Given the description of an element on the screen output the (x, y) to click on. 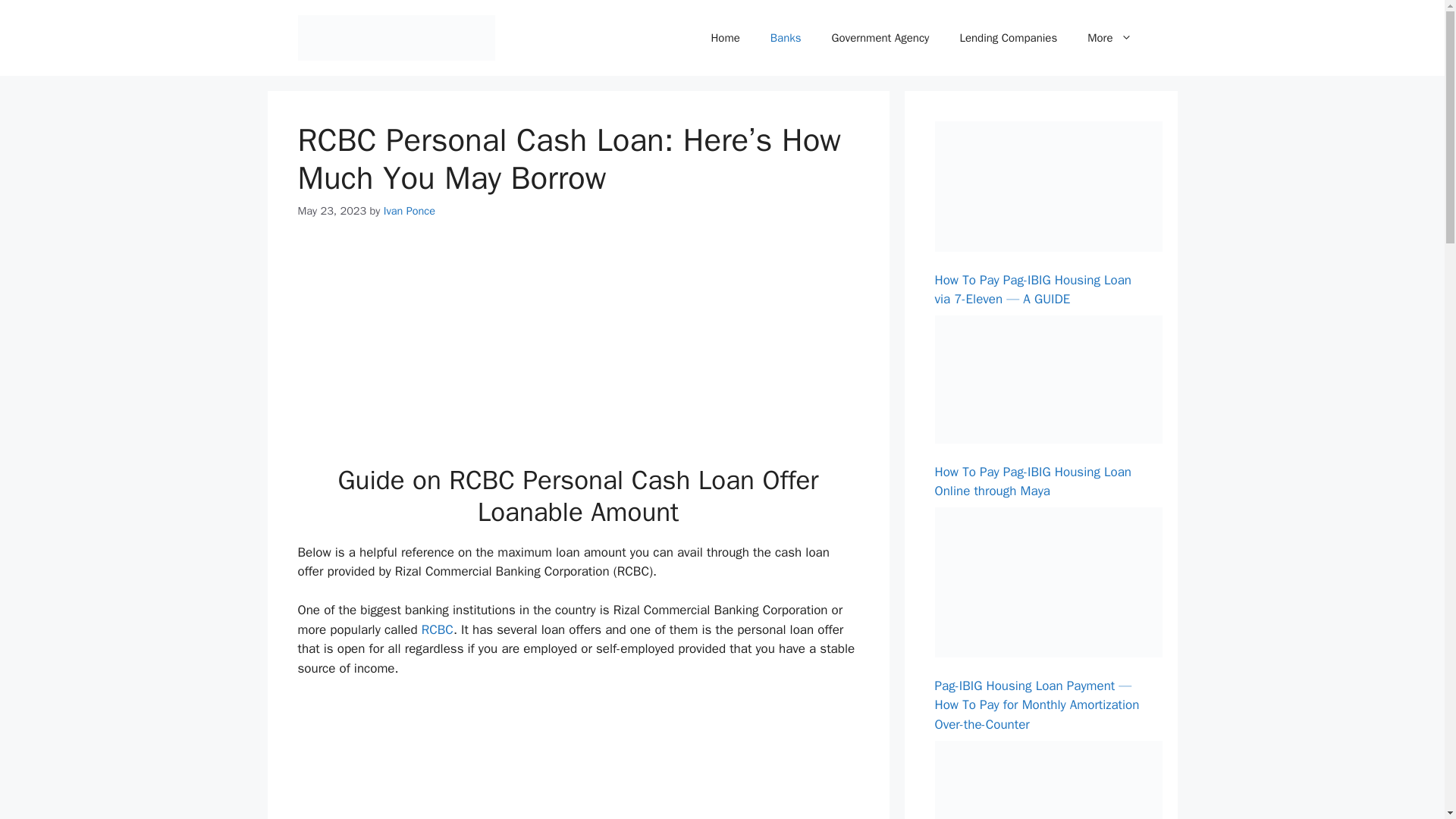
View all posts by Ivan Ponce (409, 210)
Ivan Ponce (409, 210)
Government Agency (880, 37)
More (1109, 37)
How To Pay Pag-IBIG Housing Loan Online through Maya (1032, 481)
Lending Companies (1007, 37)
Banks (785, 37)
Advertisement (585, 351)
Advertisement (585, 758)
RCBC (437, 629)
Home (724, 37)
